Given the description of an element on the screen output the (x, y) to click on. 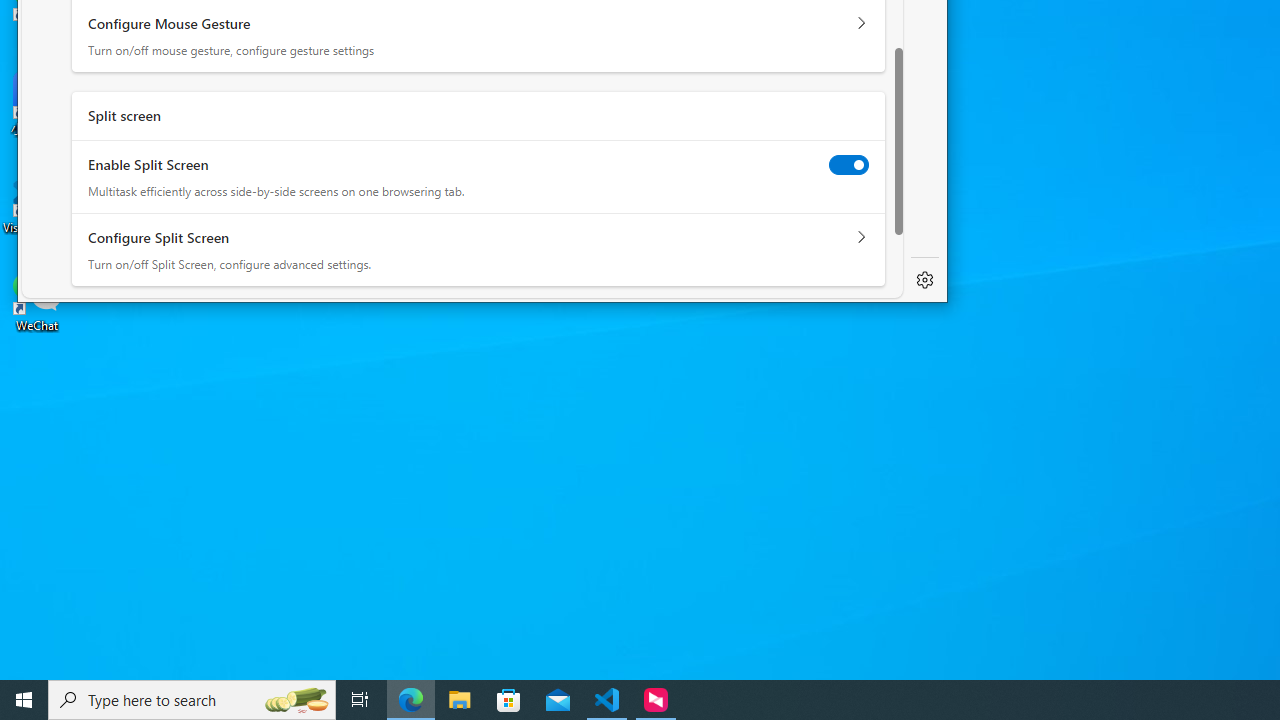
Search highlights icon opens search home window (295, 699)
Microsoft Edge - 1 running window (411, 699)
Enable Split Screen (849, 164)
Task View (359, 699)
Microsoft Store (509, 699)
Configure Mouse Gesture (861, 23)
File Explorer (460, 699)
Type here to search (191, 699)
Start (24, 699)
Visual Studio Code - 1 running window (607, 699)
Configure Split Screen (861, 238)
